Given the description of an element on the screen output the (x, y) to click on. 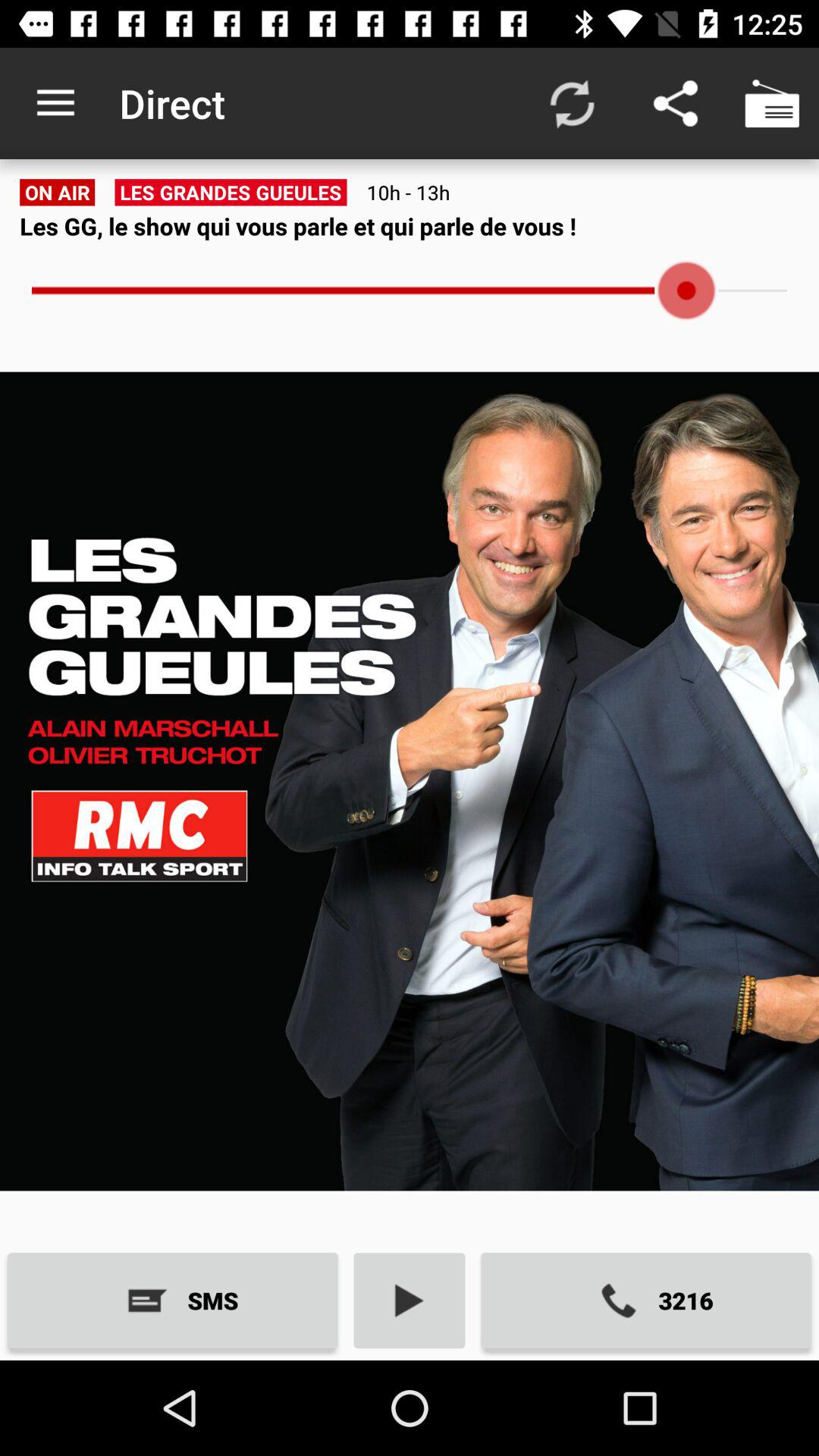
launch app next to direct app (55, 103)
